Given the description of an element on the screen output the (x, y) to click on. 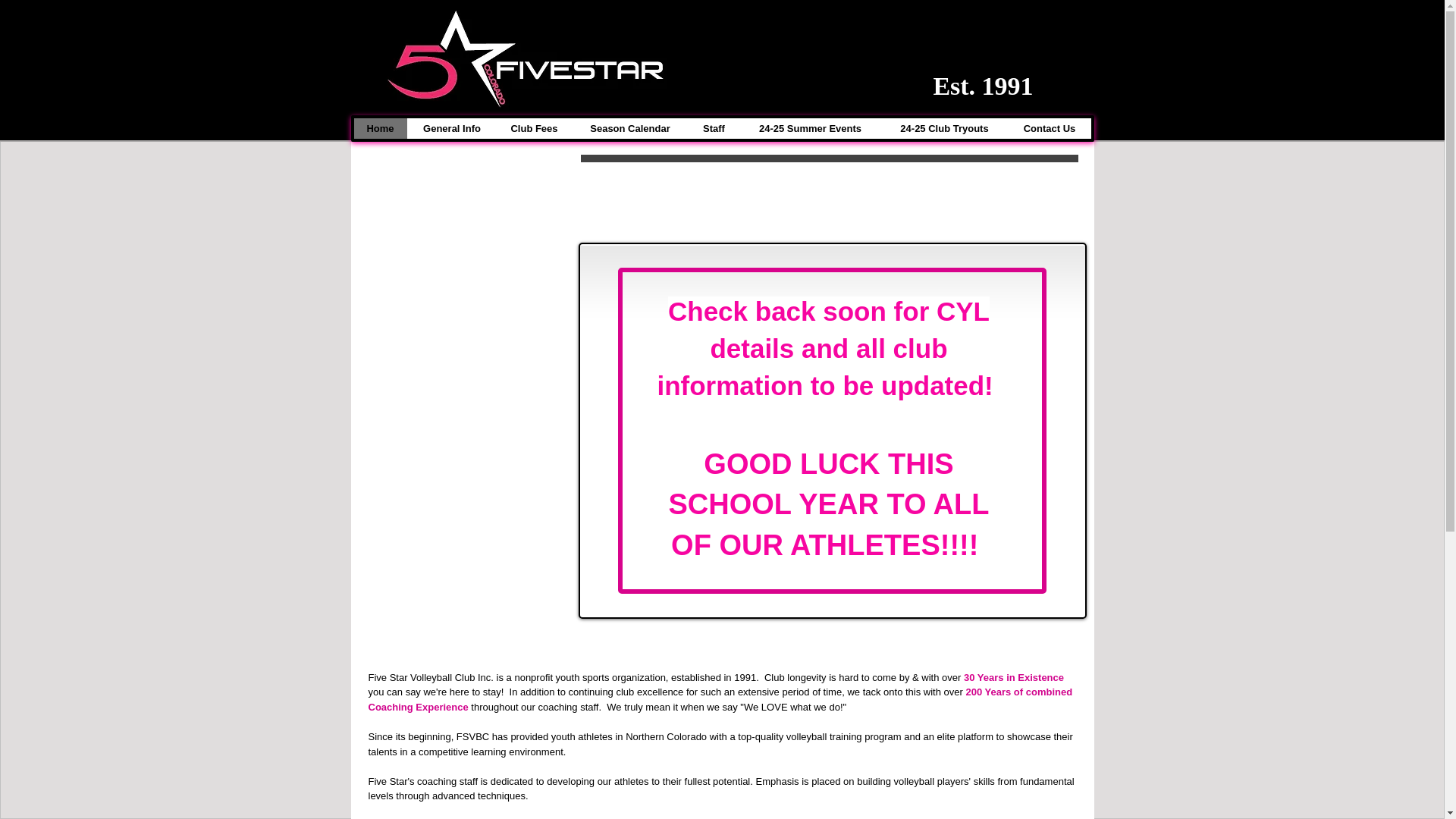
General Info (451, 127)
24-25 Club Tryouts (943, 127)
Club Fees (533, 127)
Season Calendar (630, 127)
24-25 Summer Events (809, 127)
Contact Us (1048, 127)
Staff (713, 127)
Home (379, 127)
